Given the description of an element on the screen output the (x, y) to click on. 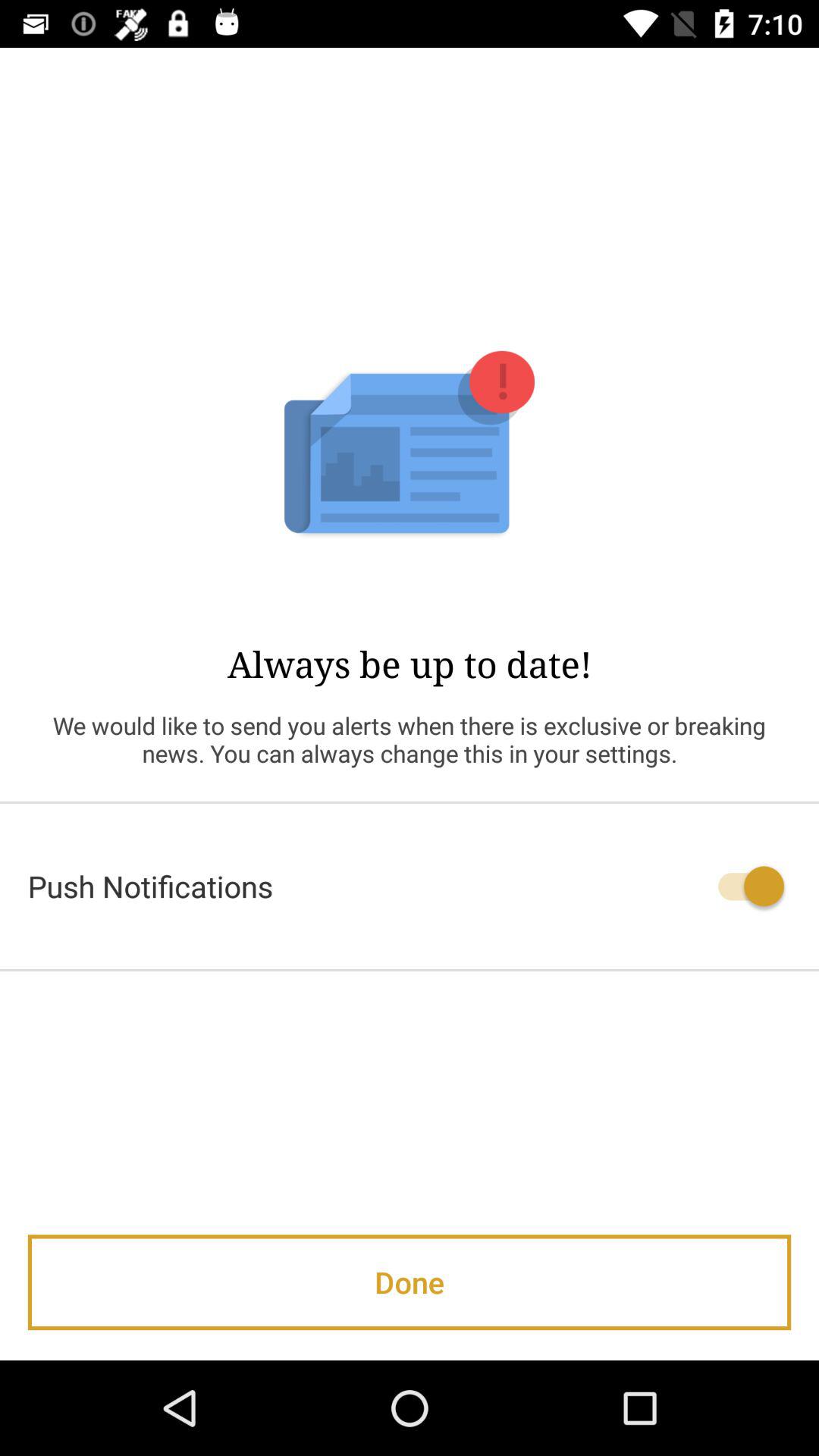
jump until the done item (409, 1282)
